Given the description of an element on the screen output the (x, y) to click on. 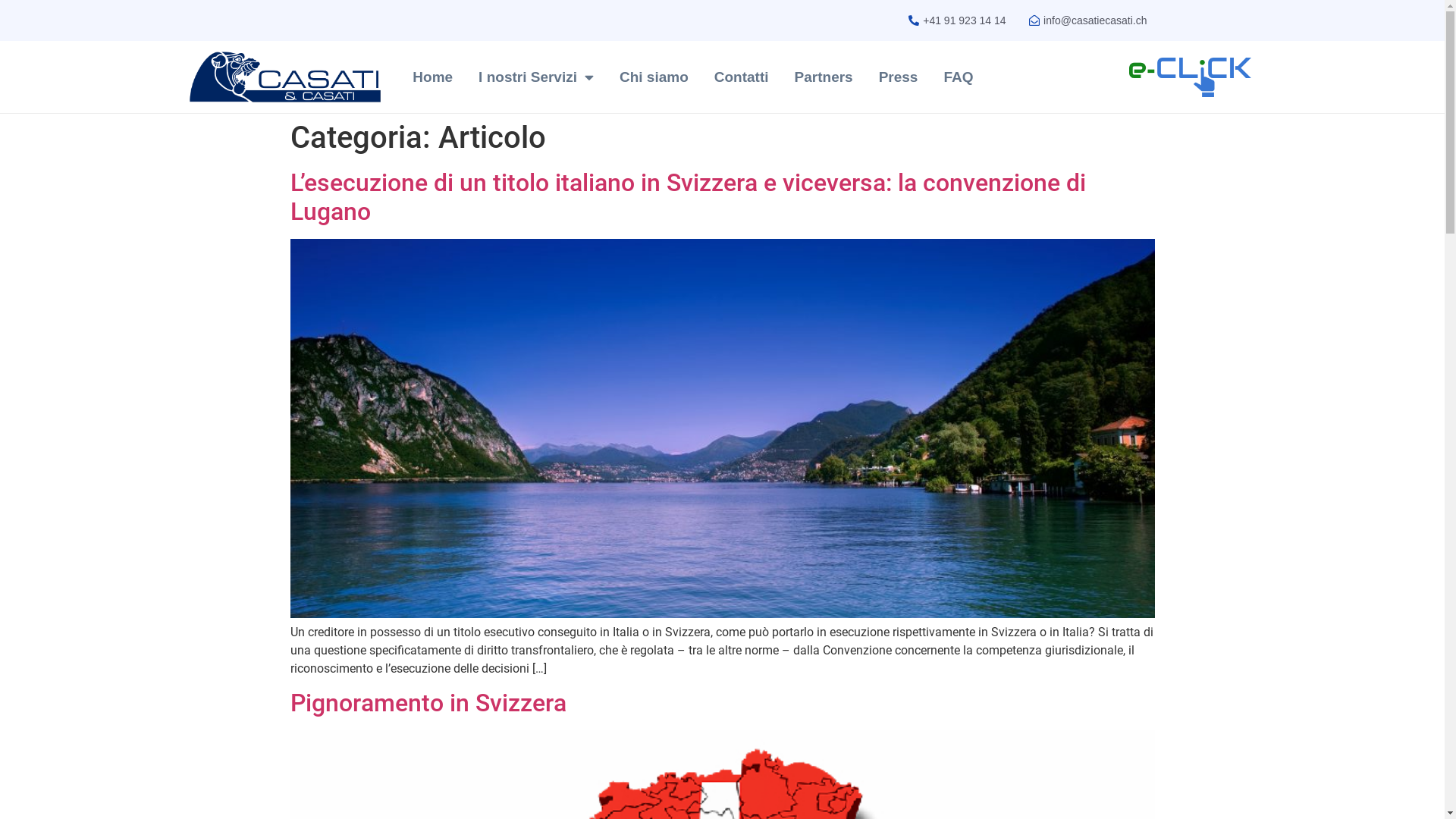
Contatti Element type: text (741, 76)
Pignoramento in Svizzera Element type: text (427, 702)
FAQ Element type: text (957, 76)
+41 91 923 14 14 Element type: text (956, 20)
I nostri Servizi Element type: text (535, 76)
Partners Element type: text (823, 76)
Chi siamo Element type: text (653, 76)
Press Element type: text (898, 76)
info@casatiecasati.ch Element type: text (1086, 20)
Home Element type: text (432, 76)
